Given the description of an element on the screen output the (x, y) to click on. 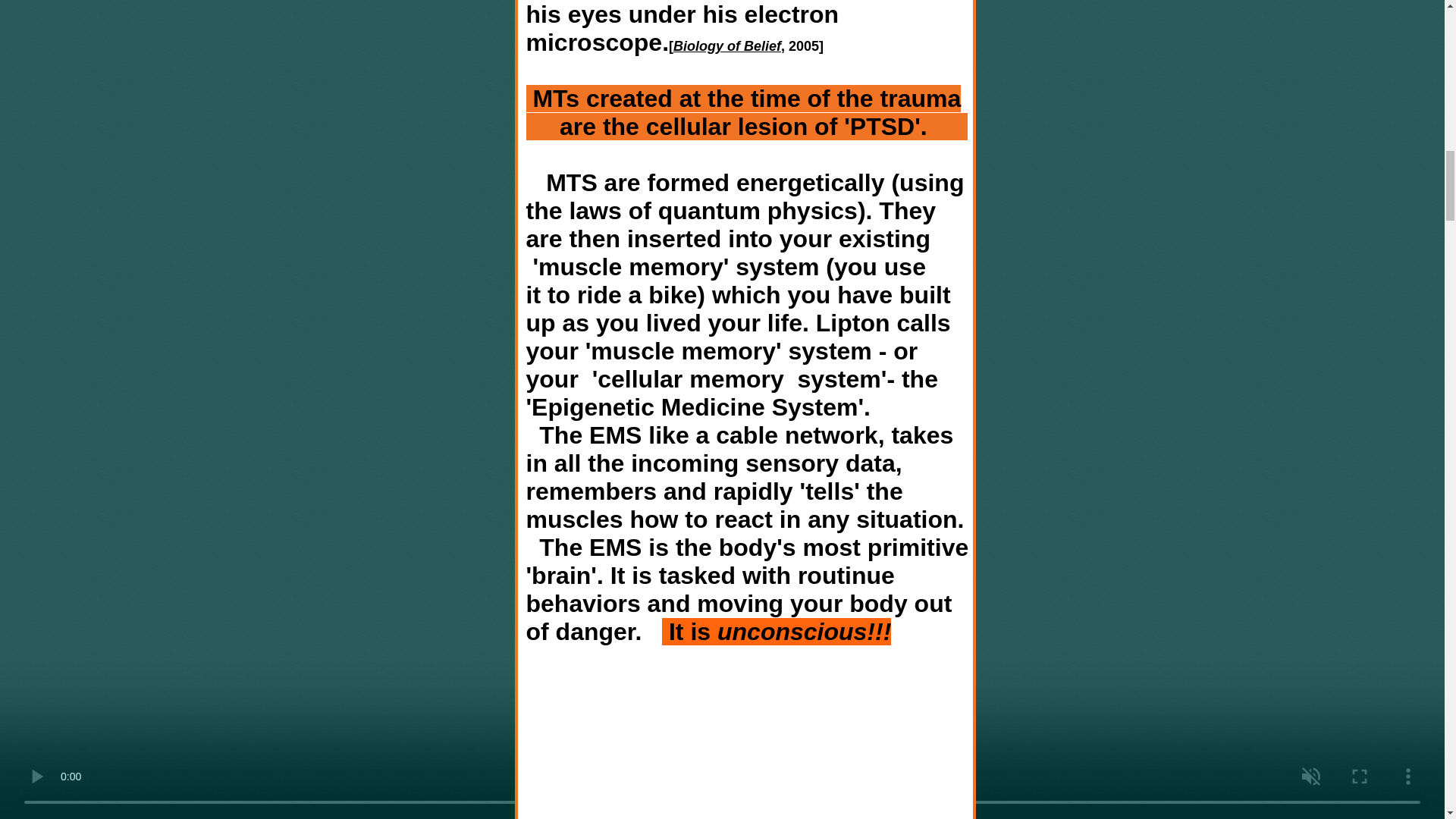
External YouTube (744, 736)
